Given the description of an element on the screen output the (x, y) to click on. 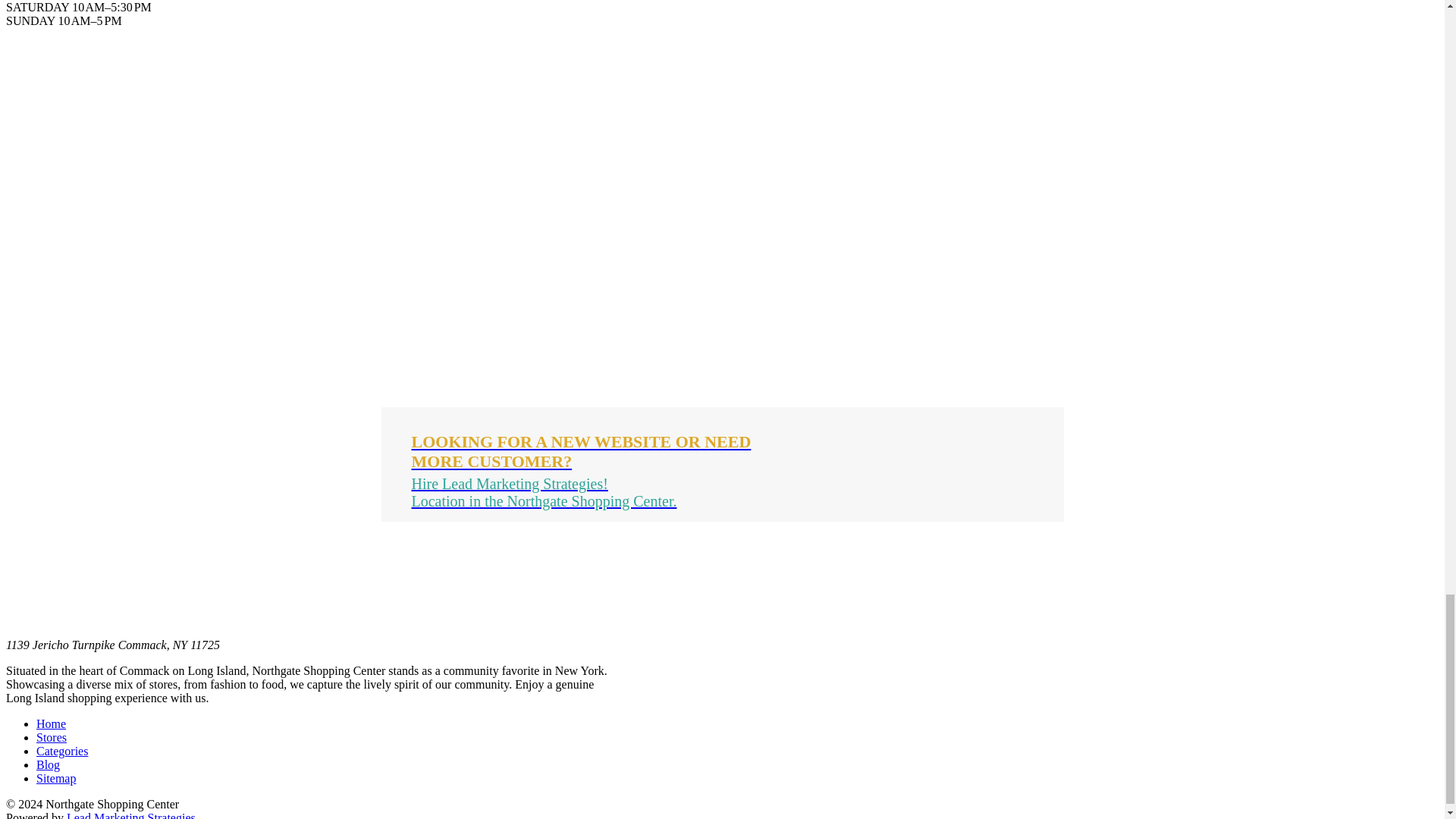
Blog (47, 764)
Categories (61, 750)
Sitemap (55, 778)
Blog (47, 764)
Home (50, 723)
Home (50, 723)
Stores (51, 737)
Categories (61, 750)
Stores (51, 737)
